Given the description of an element on the screen output the (x, y) to click on. 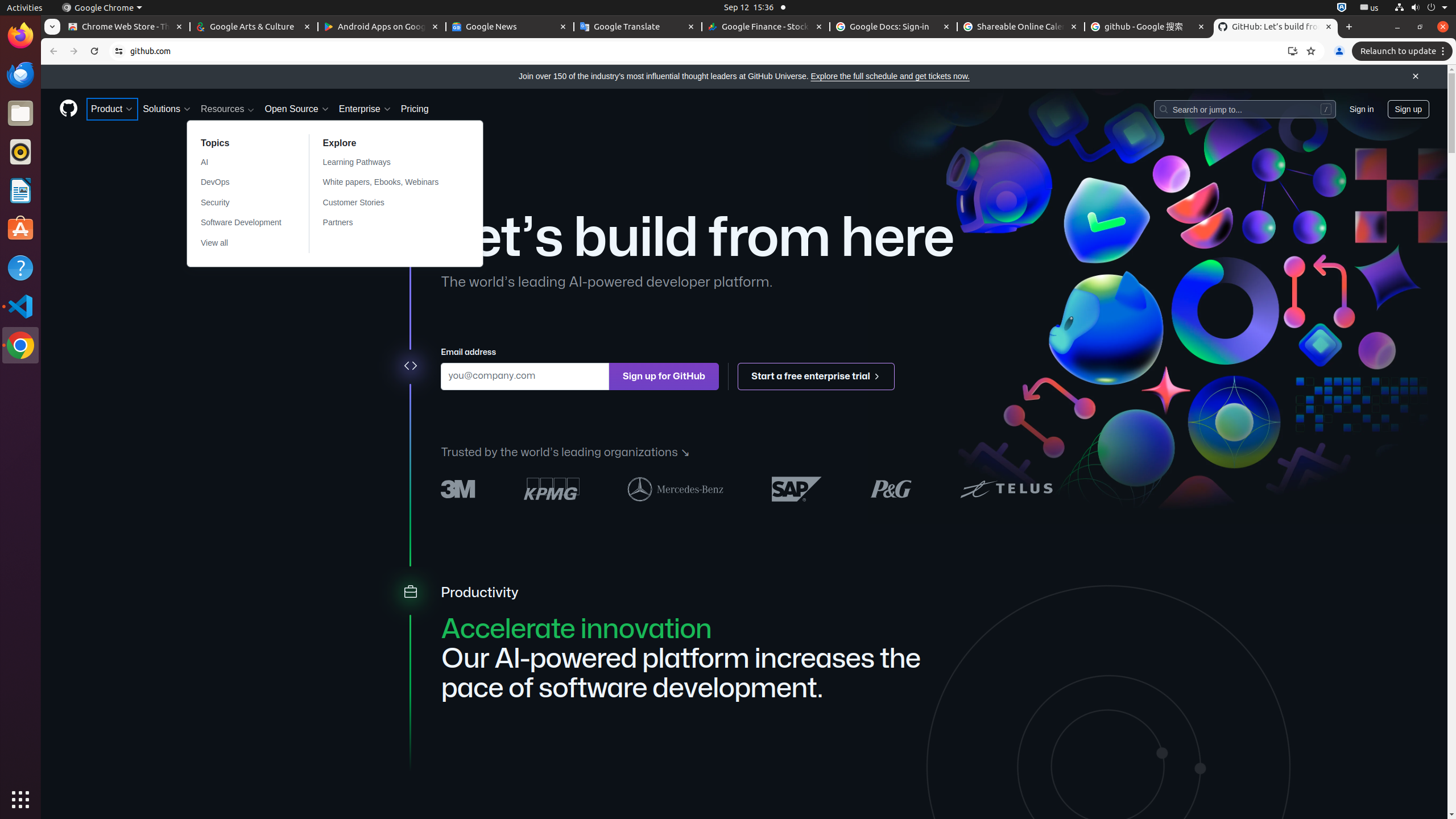
Partners Element type: link (387, 222)
github - Google 搜索 - Memory usage - 111 MB Element type: page-tab (1148, 26)
Homepage Element type: link (68, 108)
Explore the full schedule and get tickets now. Element type: link (889, 75)
Google News - Memory usage - 51.2 MB Element type: page-tab (509, 26)
